Given the description of an element on the screen output the (x, y) to click on. 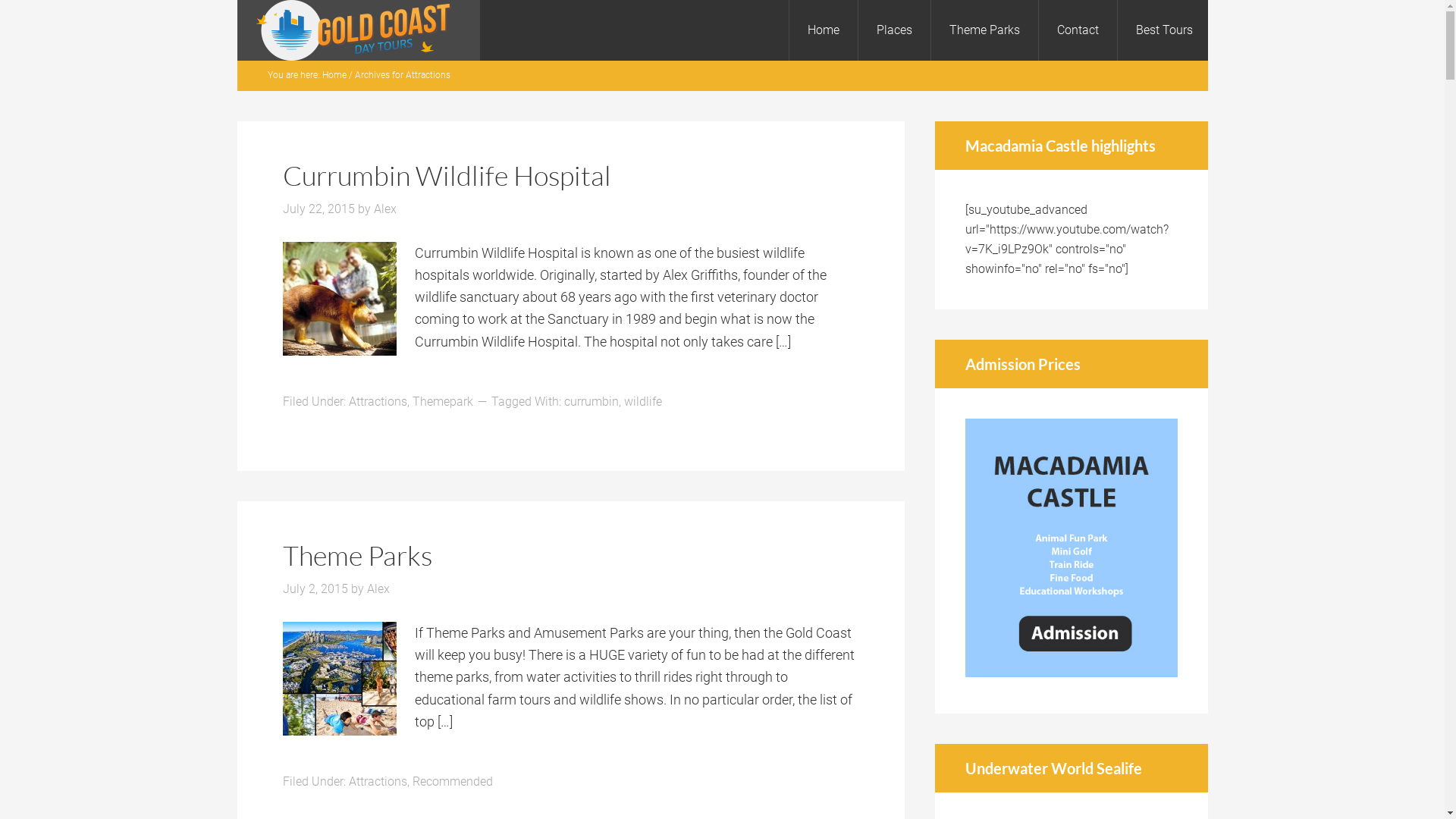
Home Element type: text (822, 30)
Currumbin Wildlife Hospital Element type: text (446, 174)
Themepark Element type: text (442, 401)
wildlife Element type: text (642, 401)
Home Element type: text (333, 74)
Theme Parks Element type: text (983, 30)
currumbin Element type: text (591, 401)
Theme Parks Element type: text (356, 554)
Alex Element type: text (378, 588)
Recommended Element type: text (452, 781)
Attractions Element type: text (377, 401)
Alex Element type: text (384, 208)
Contact Element type: text (1076, 30)
Best Tours Element type: text (1163, 30)
Attractions Element type: text (377, 781)
Places Element type: text (892, 30)
Gold Coast Day Tours Element type: text (357, 30)
